Given the description of an element on the screen output the (x, y) to click on. 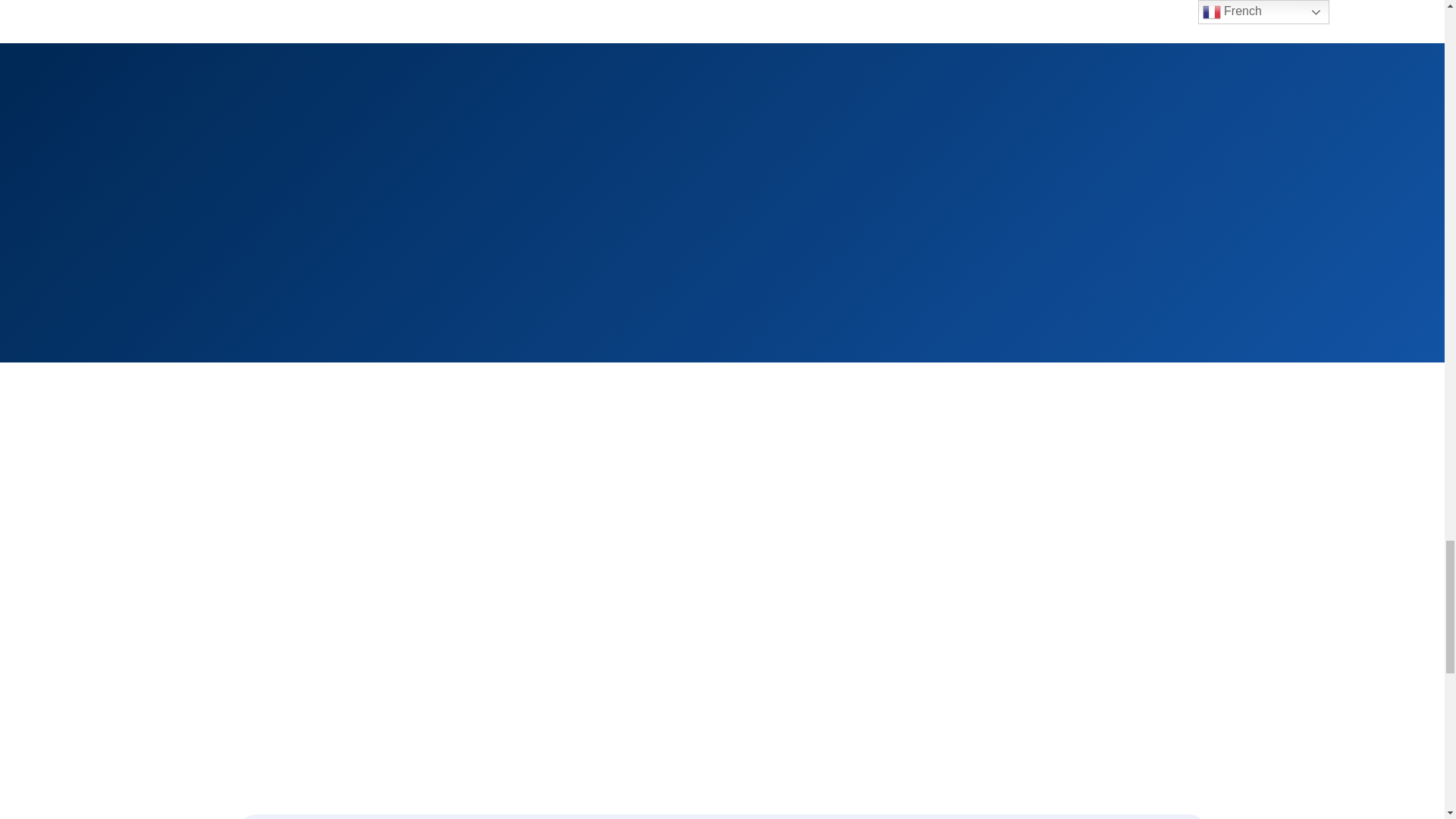
Post Comment (482, 272)
